Given the description of an element on the screen output the (x, y) to click on. 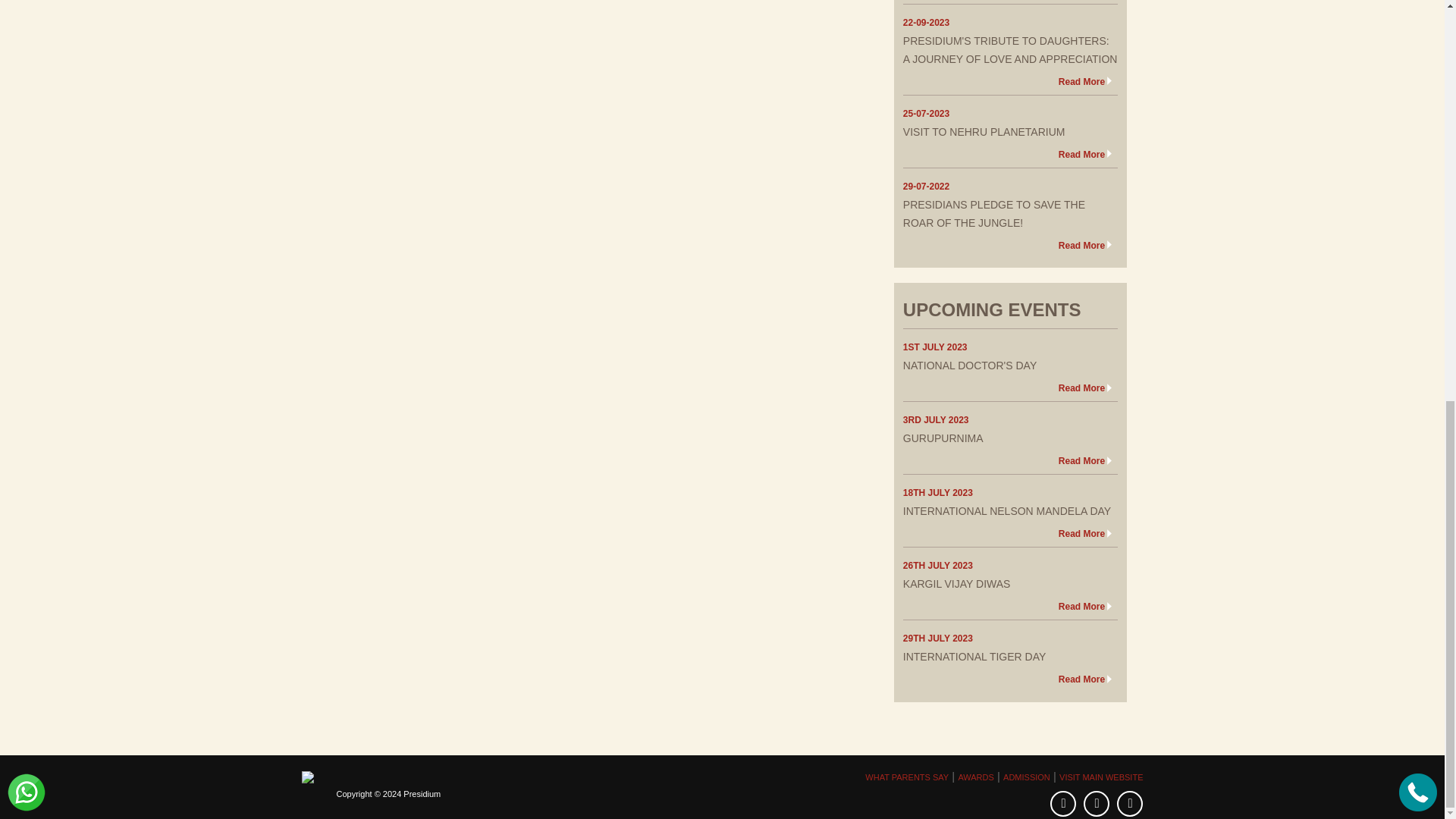
Call Us (1418, 13)
WhatsApp us (26, 13)
